Given the description of an element on the screen output the (x, y) to click on. 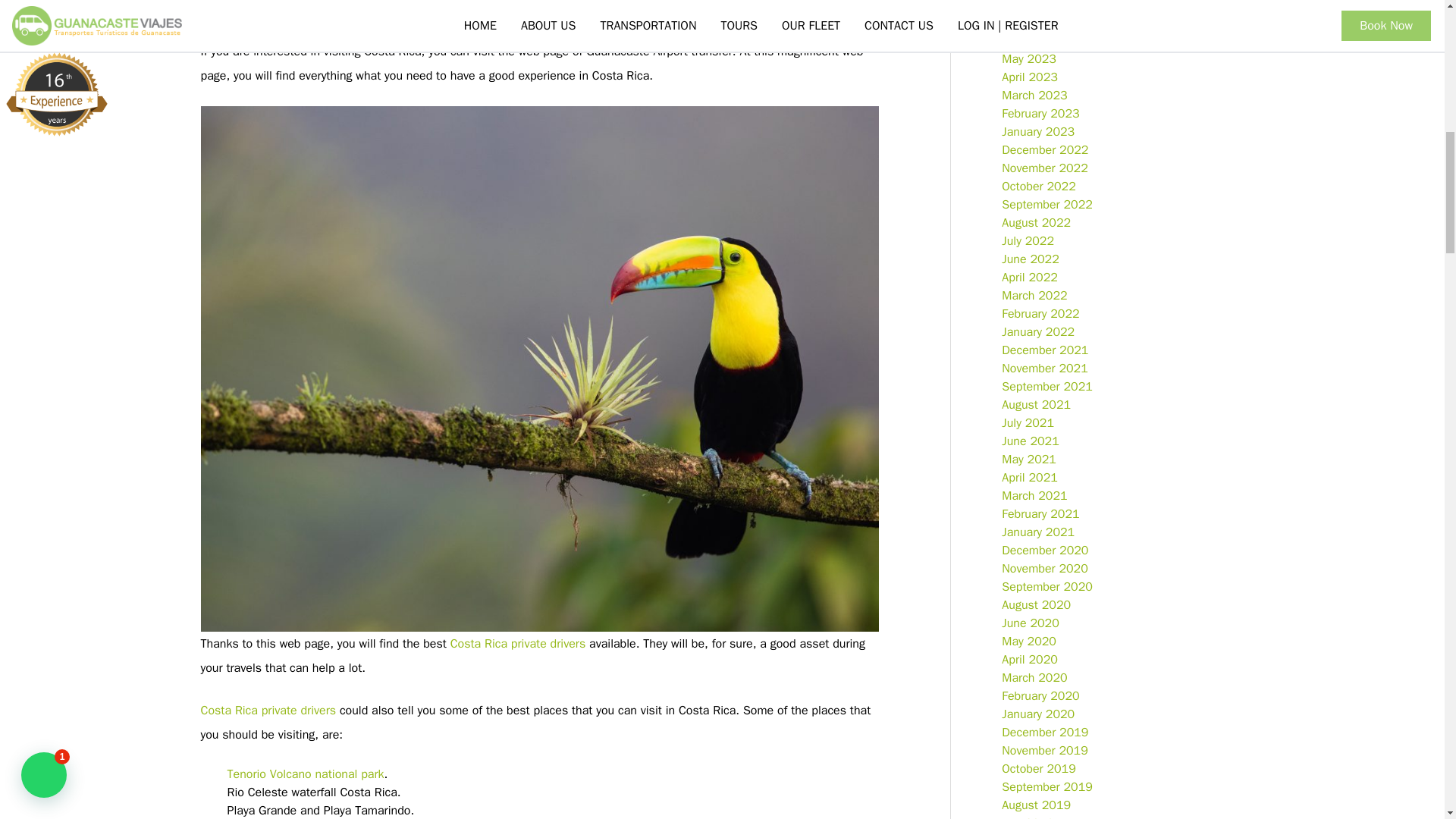
Costa Rica private drivers (517, 643)
Costa Rica private drivers (268, 710)
Tenorio Volcano national park (305, 774)
